Given the description of an element on the screen output the (x, y) to click on. 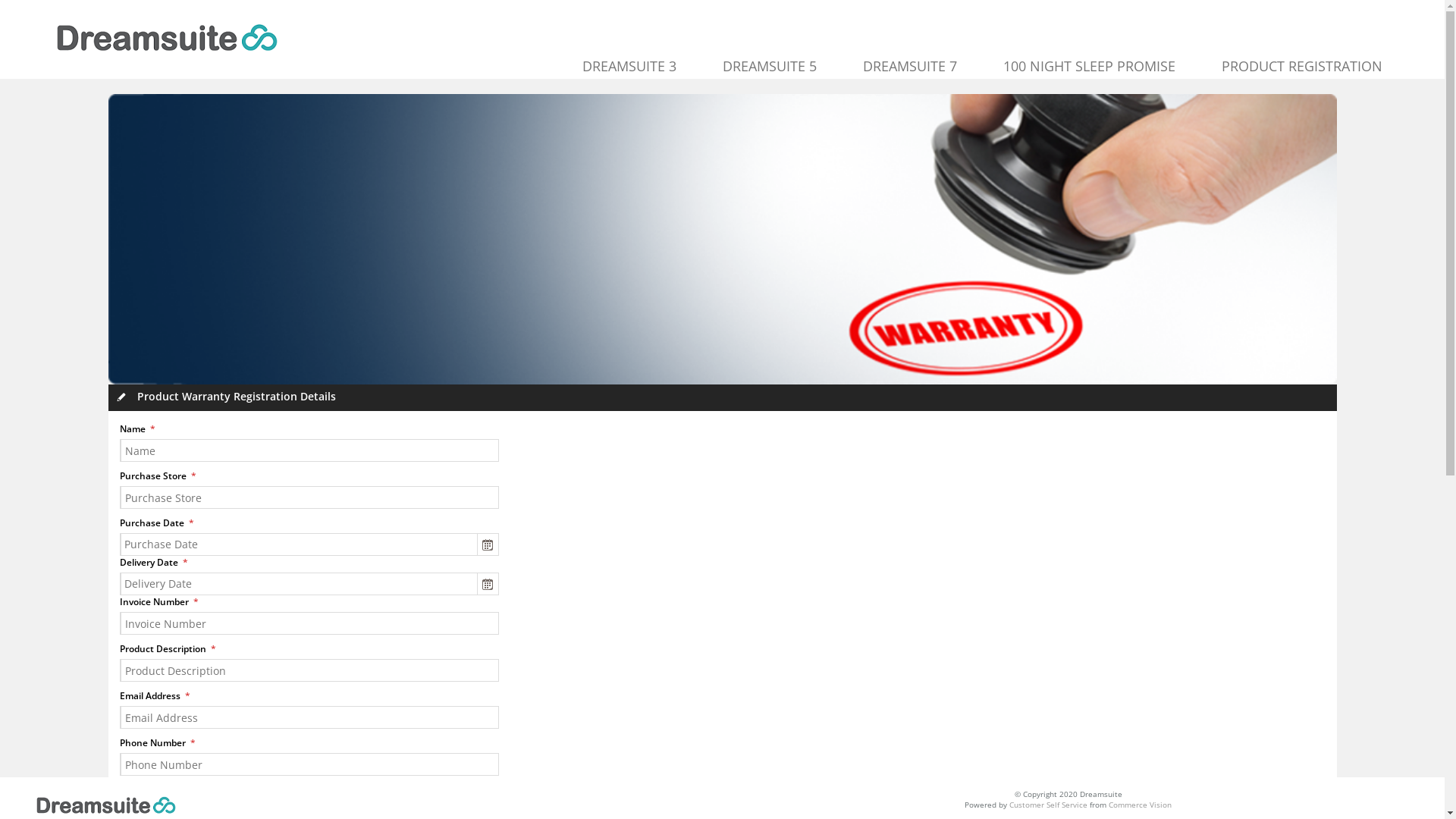
100 NIGHT SLEEP PROMISE Element type: text (1089, 65)
DREAMSUITE 3 Element type: text (629, 65)
DREAMSUITE 5 Element type: text (769, 65)
Commerce Vision Element type: text (1139, 804)
PRODUCT REGISTRATION Element type: text (1301, 65)
Customer Self Service Element type: text (1048, 804)
DREAMSUITE 7 Element type: text (910, 65)
